Given the description of an element on the screen output the (x, y) to click on. 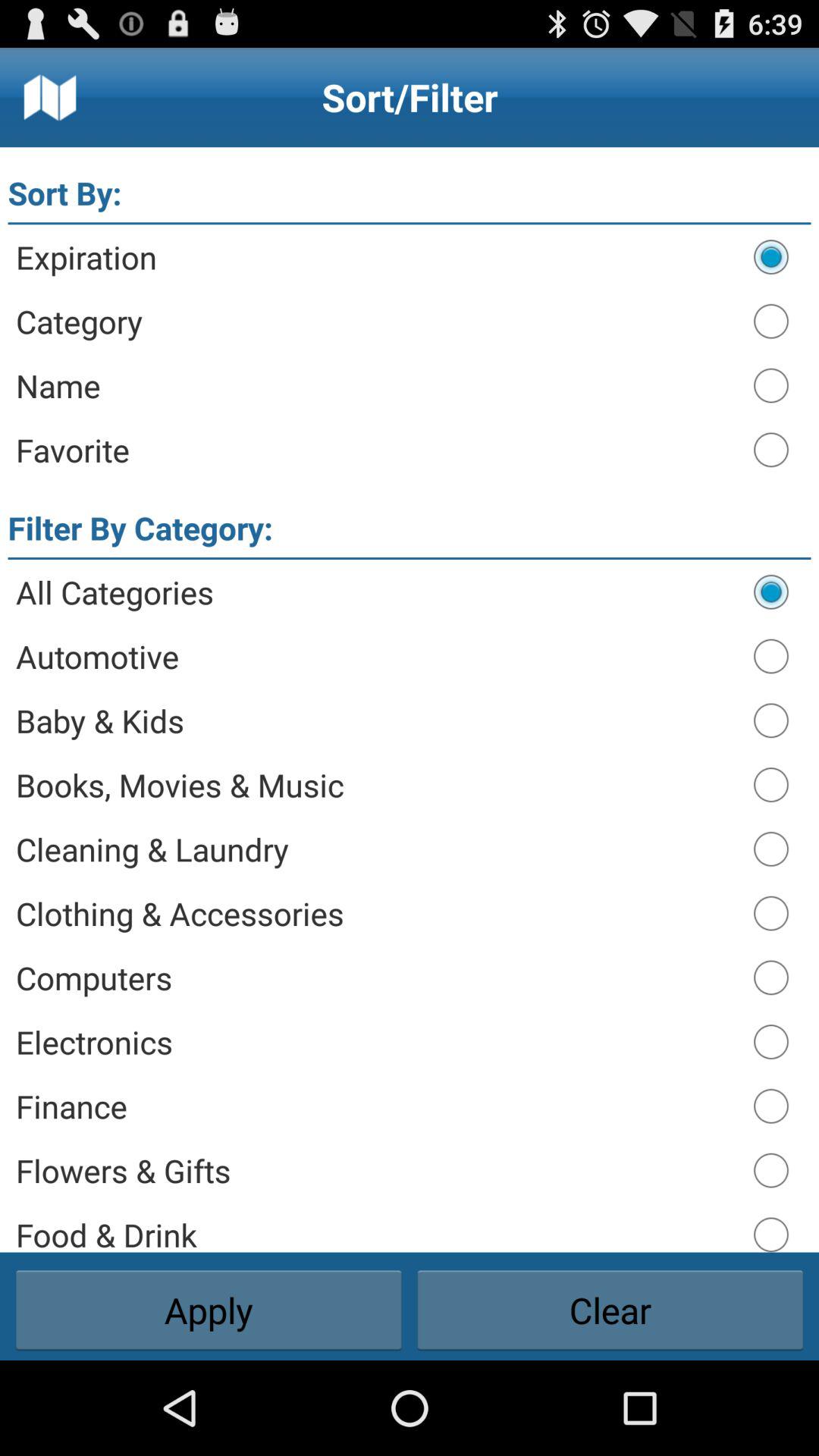
jump to the favorite app (377, 449)
